Given the description of an element on the screen output the (x, y) to click on. 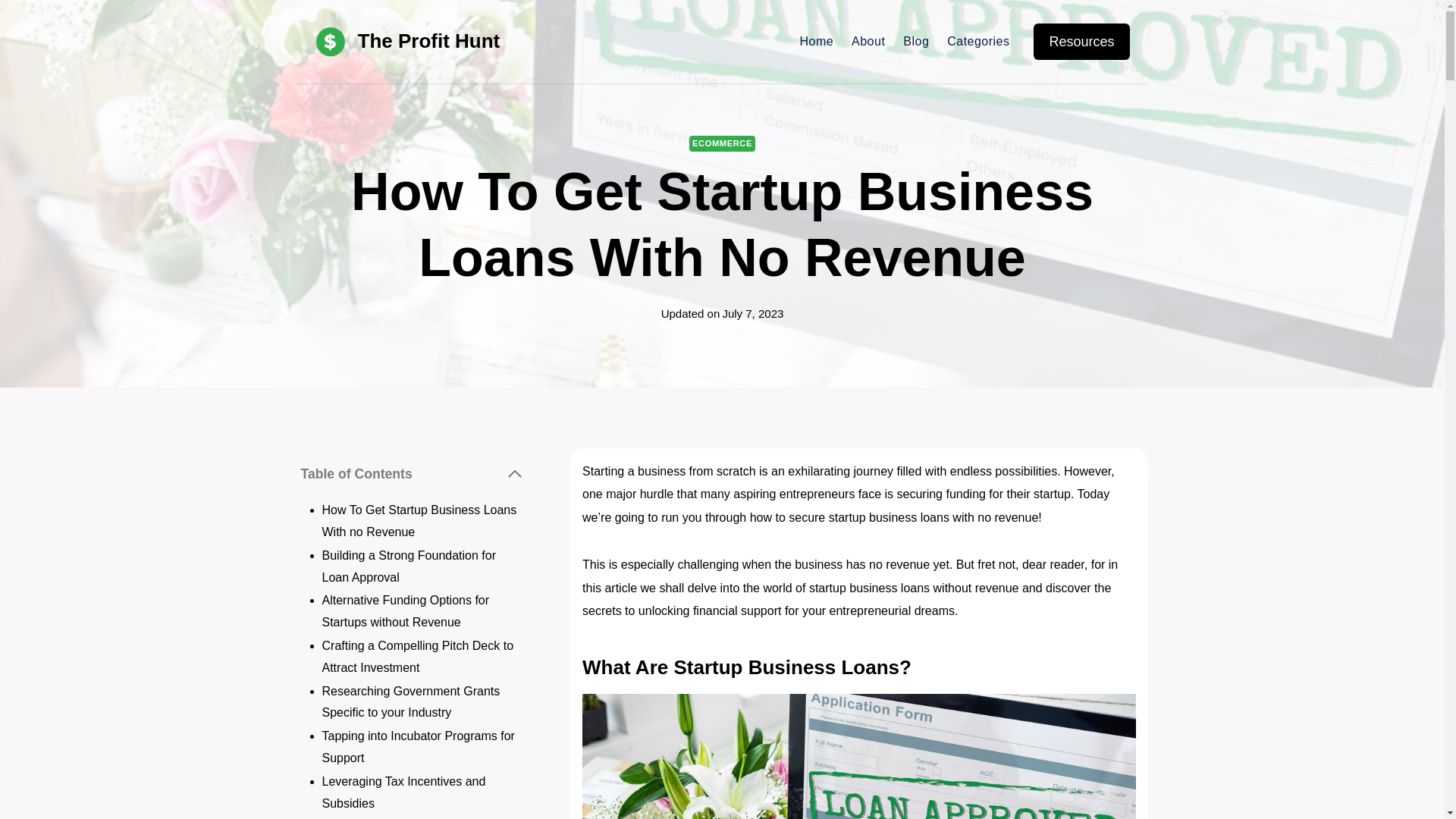
Tapping into Incubator Programs for Support (417, 746)
Building a Strong Foundation for Loan Approval (408, 565)
About (868, 41)
Researching Government Grants Specific to your Industry (410, 701)
ECOMMERCE (721, 143)
Leveraging Tax Incentives and Subsidies (402, 791)
Resources (1081, 41)
Table of Contents (411, 473)
How To Get Startup Business Loans With no Revenue (418, 520)
Alternative Funding Options for Startups without Revenue (405, 610)
